Given the description of an element on the screen output the (x, y) to click on. 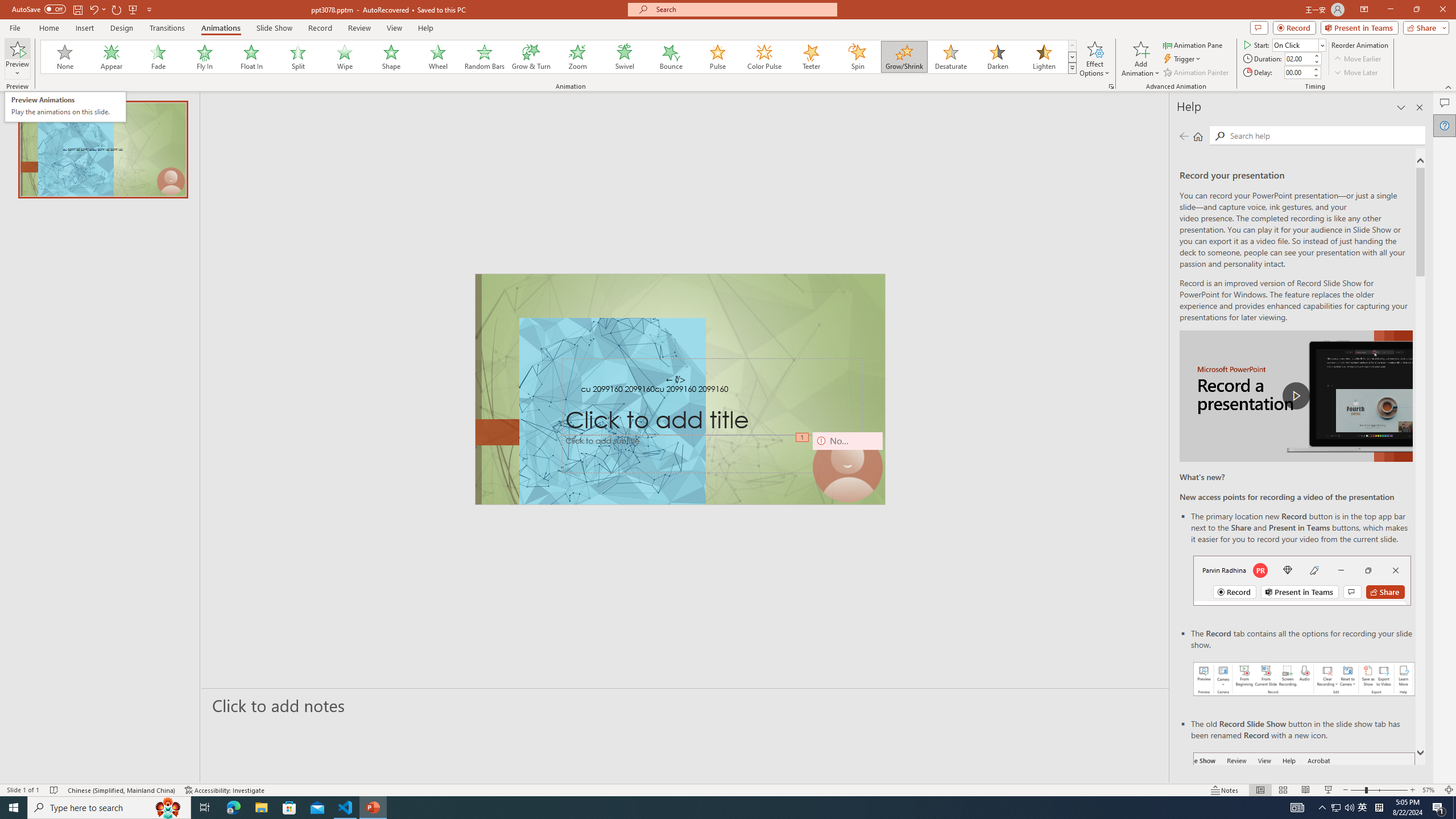
Bounce (670, 56)
Animation Duration (1298, 58)
Lighten (1043, 56)
Title TextBox (712, 396)
